Given the description of an element on the screen output the (x, y) to click on. 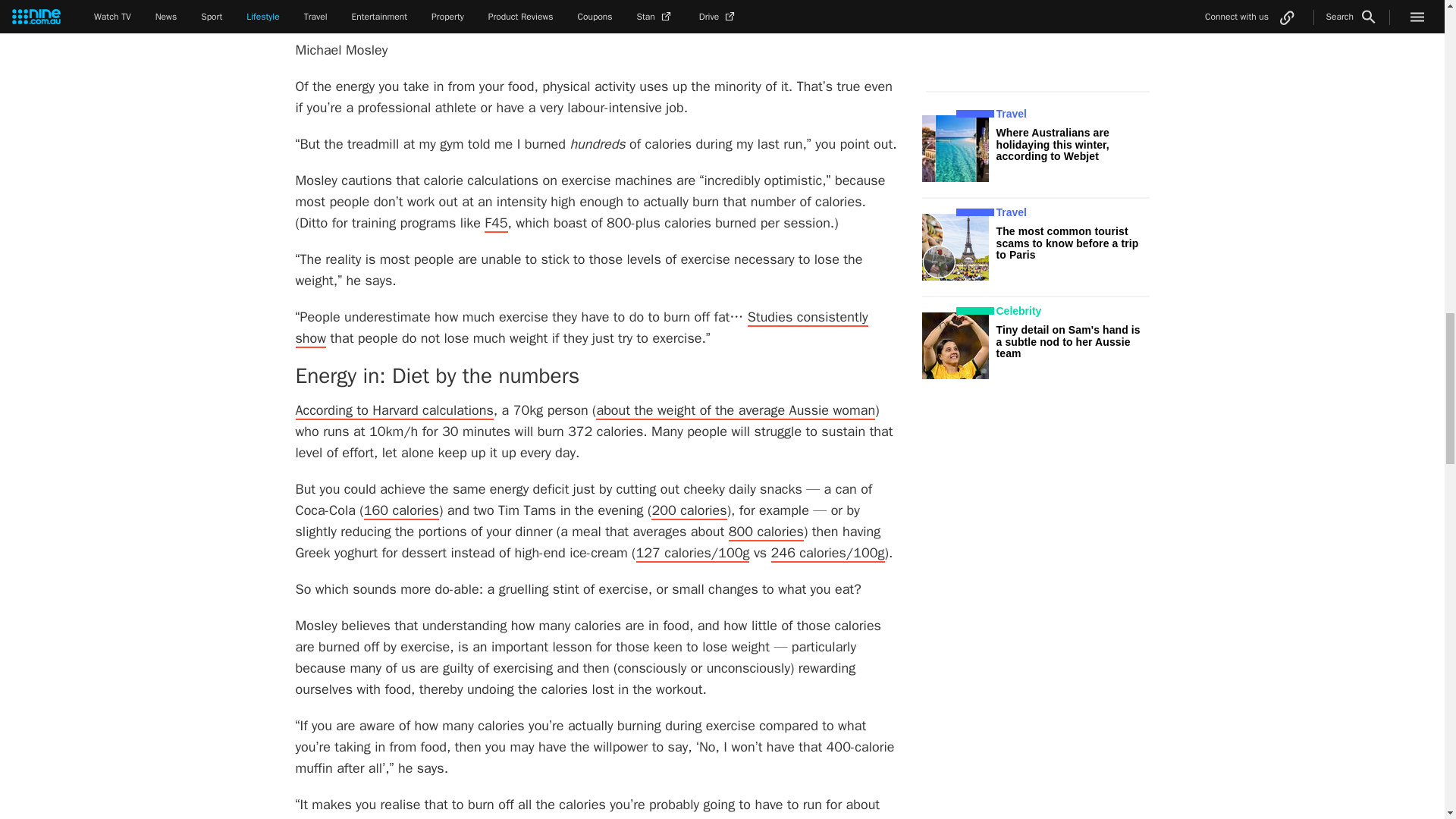
According to Harvard calculations (394, 411)
160 calories (401, 511)
800 calories (766, 532)
200 calories (688, 511)
F45 (495, 223)
Studies consistently show (581, 328)
about the weight of the average Aussie woman (735, 411)
